Given the description of an element on the screen output the (x, y) to click on. 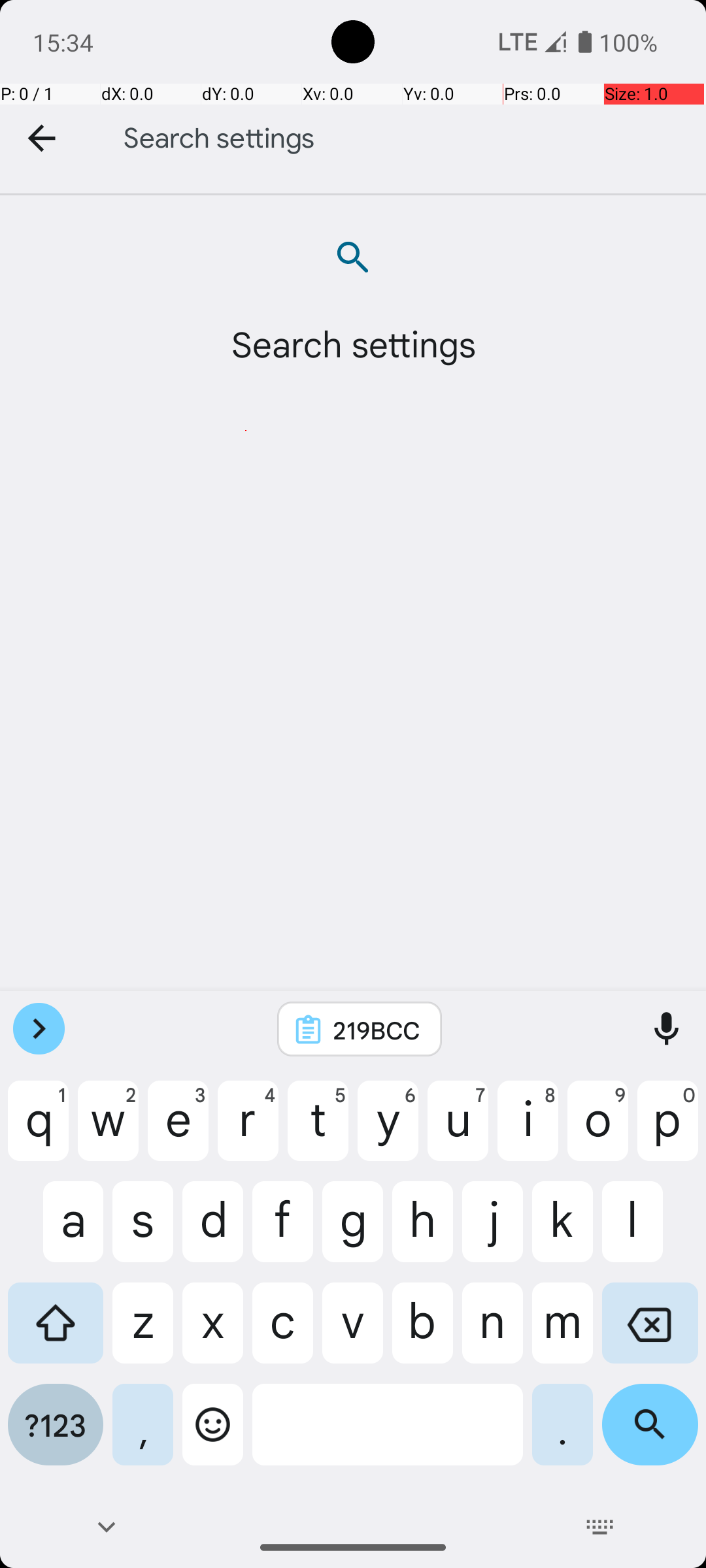
219BCC Element type: android.widget.TextView (376, 1029)
